Given the description of an element on the screen output the (x, y) to click on. 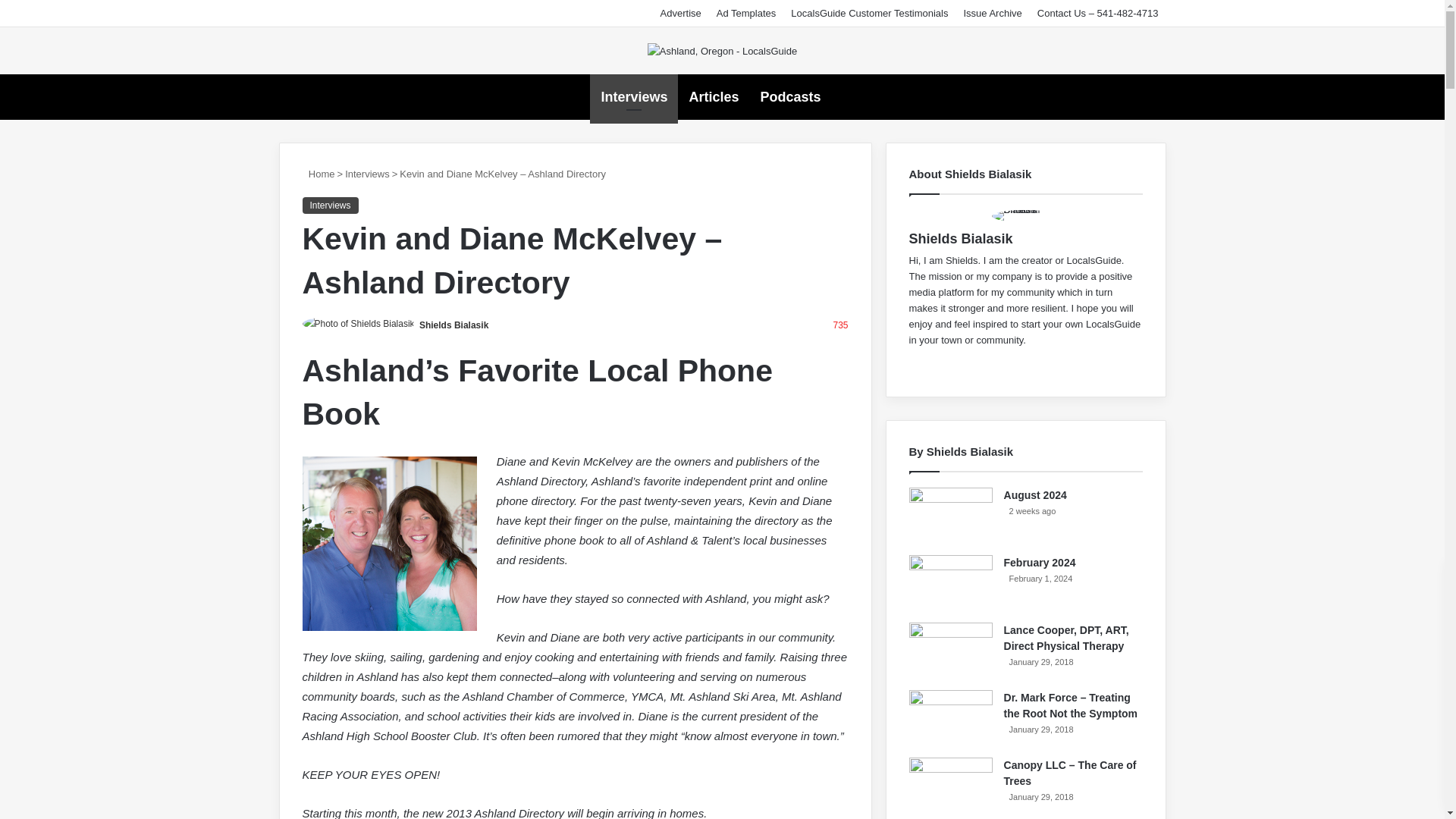
Shields Bialasik (453, 325)
Issue Archive (992, 13)
Ad Templates (746, 13)
Interviews (329, 205)
Articles (713, 96)
Ashland, Oregon - LocalsGuide (721, 50)
Interviews (633, 96)
LocalsGuide Customer Testimonials (869, 13)
Interviews (367, 173)
Advertise (680, 13)
